Given the description of an element on the screen output the (x, y) to click on. 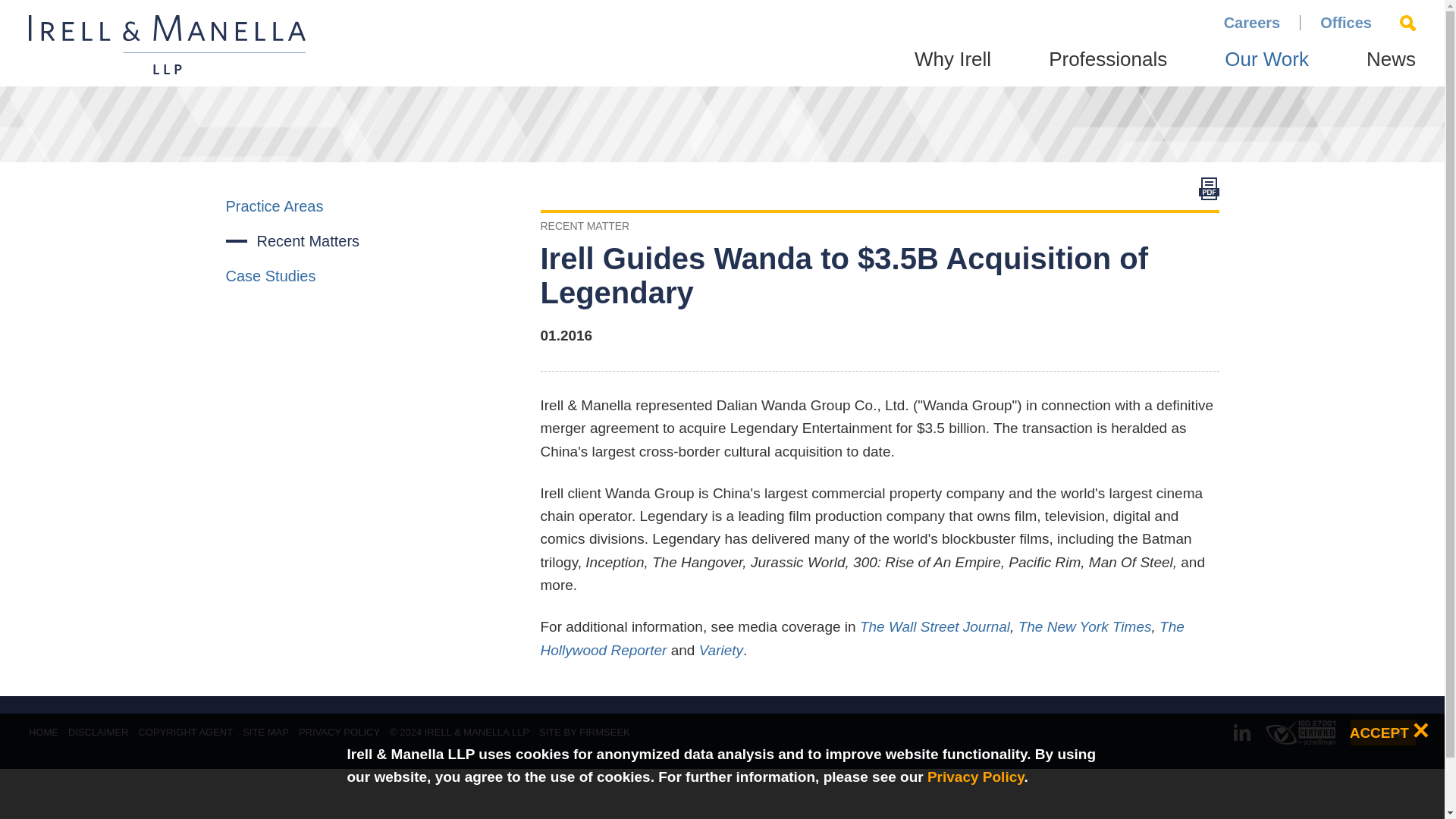
Professionals (1107, 66)
Our Work (1267, 66)
Why Irell (952, 66)
Main Menu (674, 19)
Main Content (667, 19)
Menu (674, 19)
